Given the description of an element on the screen output the (x, y) to click on. 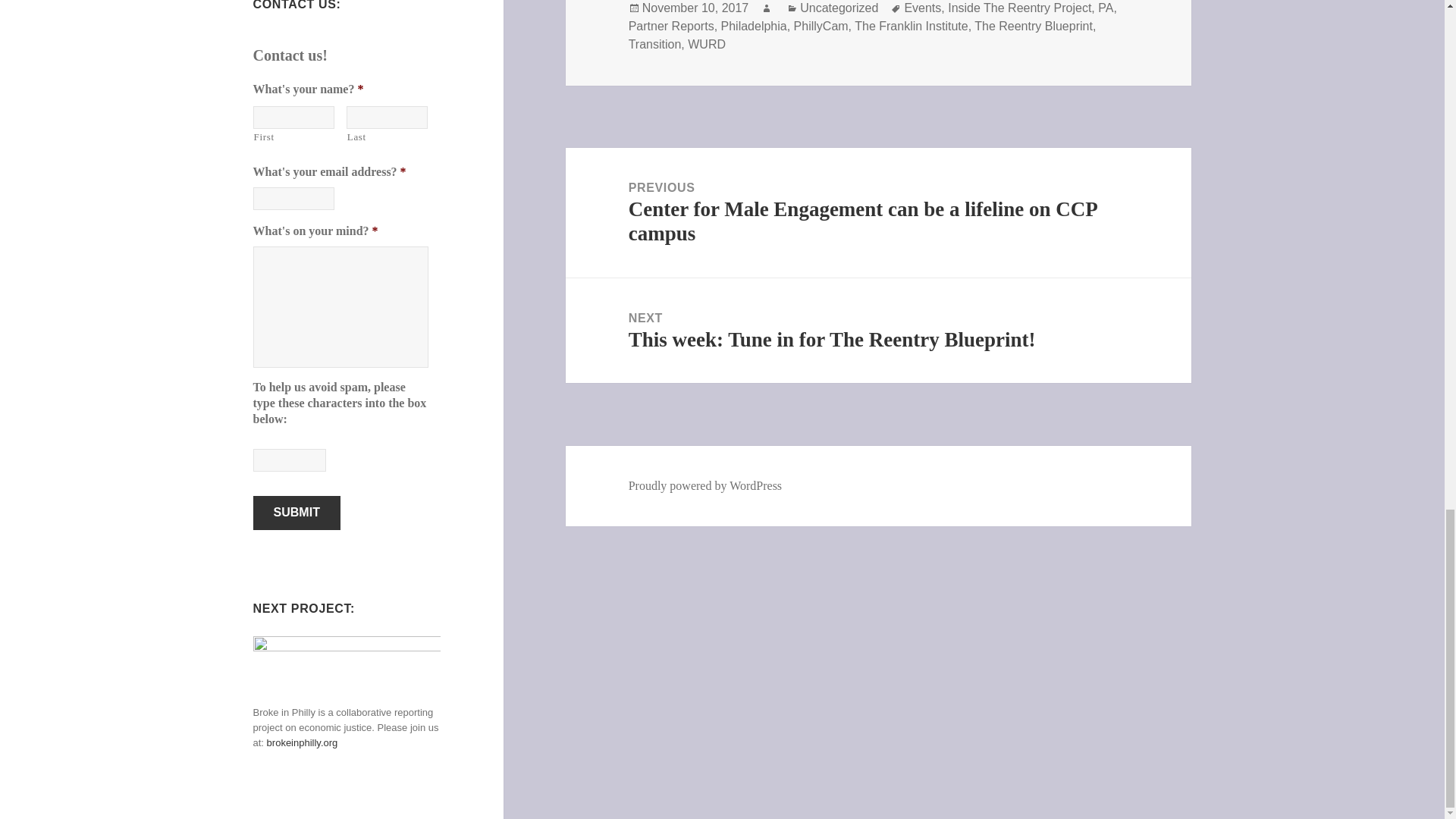
Events (922, 8)
Philadelphia (753, 26)
Submit (296, 512)
Submit (296, 512)
November 10, 2017 (695, 8)
Inside The Reentry Project (1018, 8)
brokeinphilly.org (301, 742)
PhillyCam (820, 26)
PA (1105, 8)
Partner Reports (671, 26)
The Franklin Institute (911, 26)
